Given the description of an element on the screen output the (x, y) to click on. 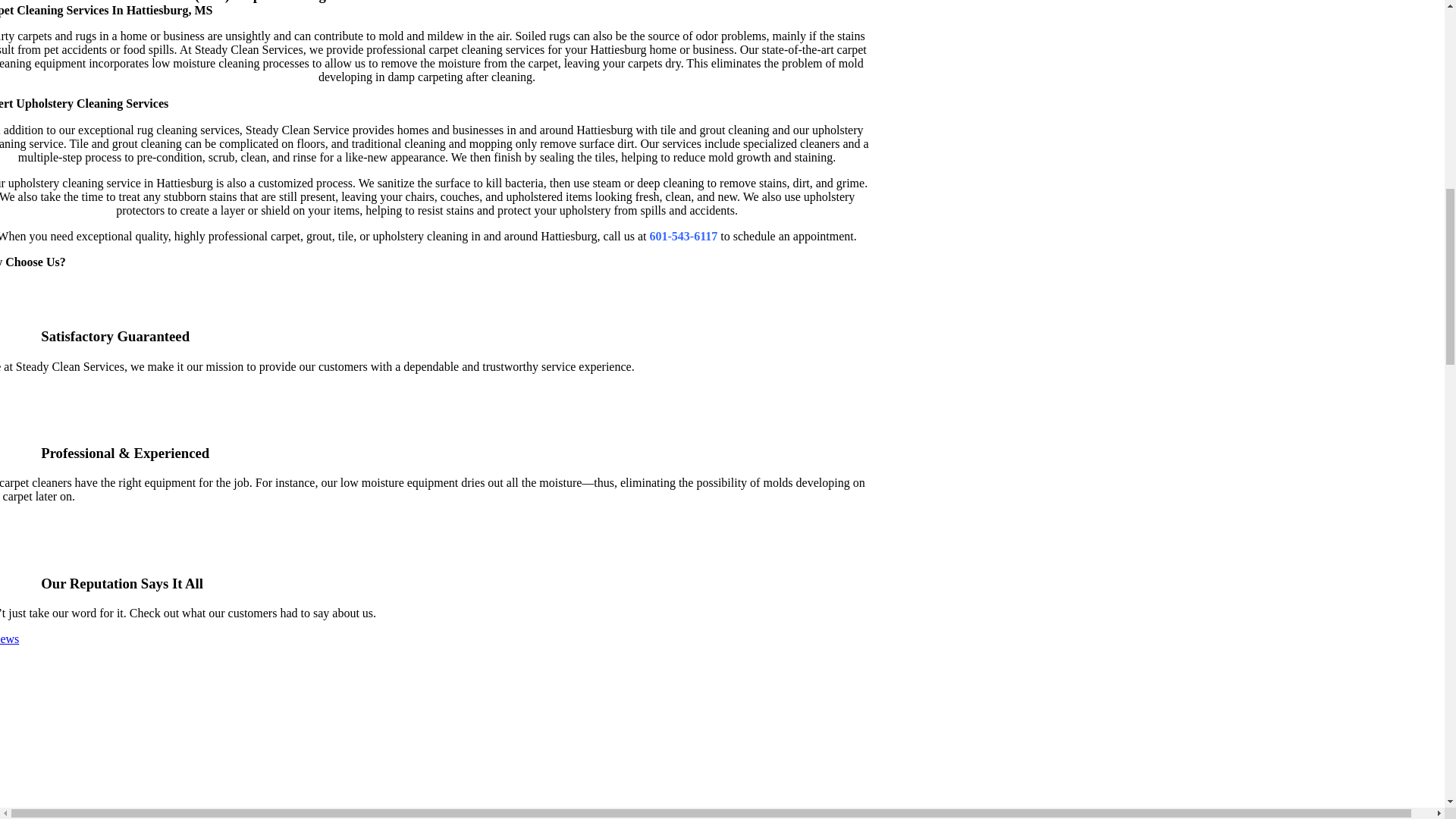
Hattiesburg MS Carpet Cleaning (261, 732)
Reviews (9, 638)
